Given the description of an element on the screen output the (x, y) to click on. 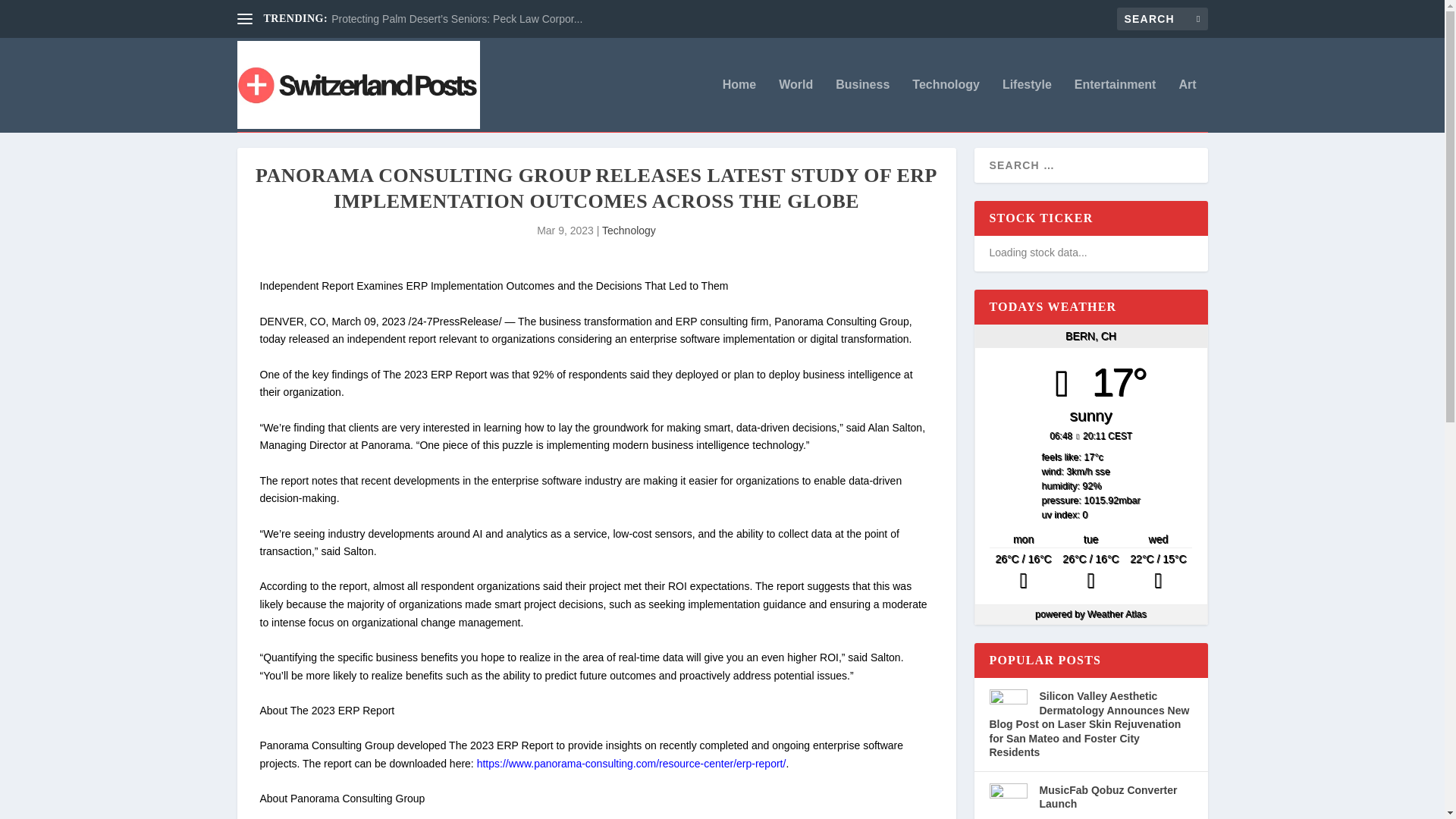
Search for: (1161, 18)
Lifestyle (1027, 104)
Entertainment (1115, 104)
Search (31, 13)
Technology (629, 230)
Technology (945, 104)
PM Thunderstorms (1023, 572)
Business (862, 104)
PM Thunderstorms (1090, 572)
